Given the description of an element on the screen output the (x, y) to click on. 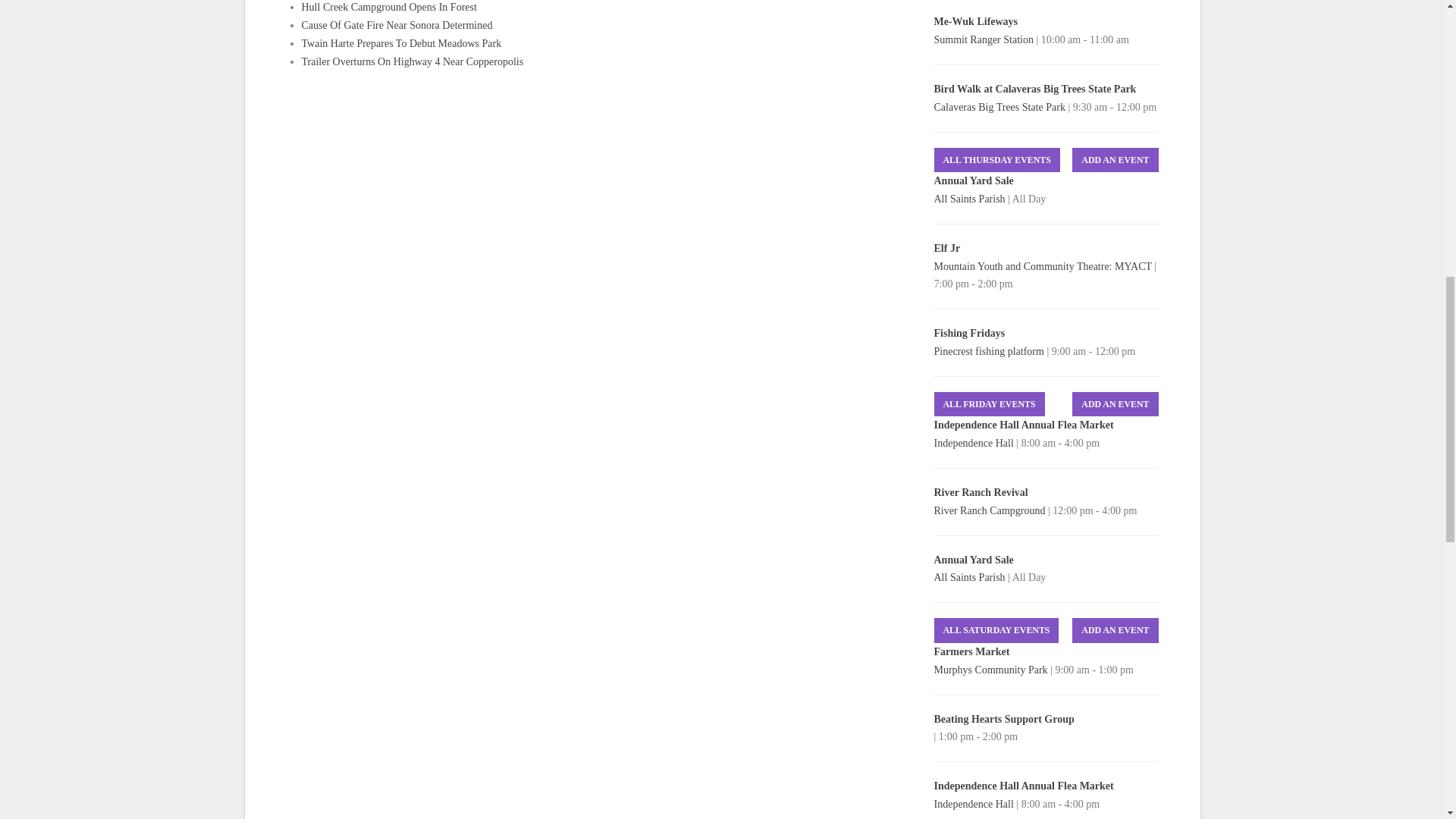
Add An Event (1114, 160)
All Friday Events (989, 404)
All Thursday Events (996, 160)
Add An Event (1114, 630)
Add An Event (1114, 404)
All Saturday Events (996, 630)
